Given the description of an element on the screen output the (x, y) to click on. 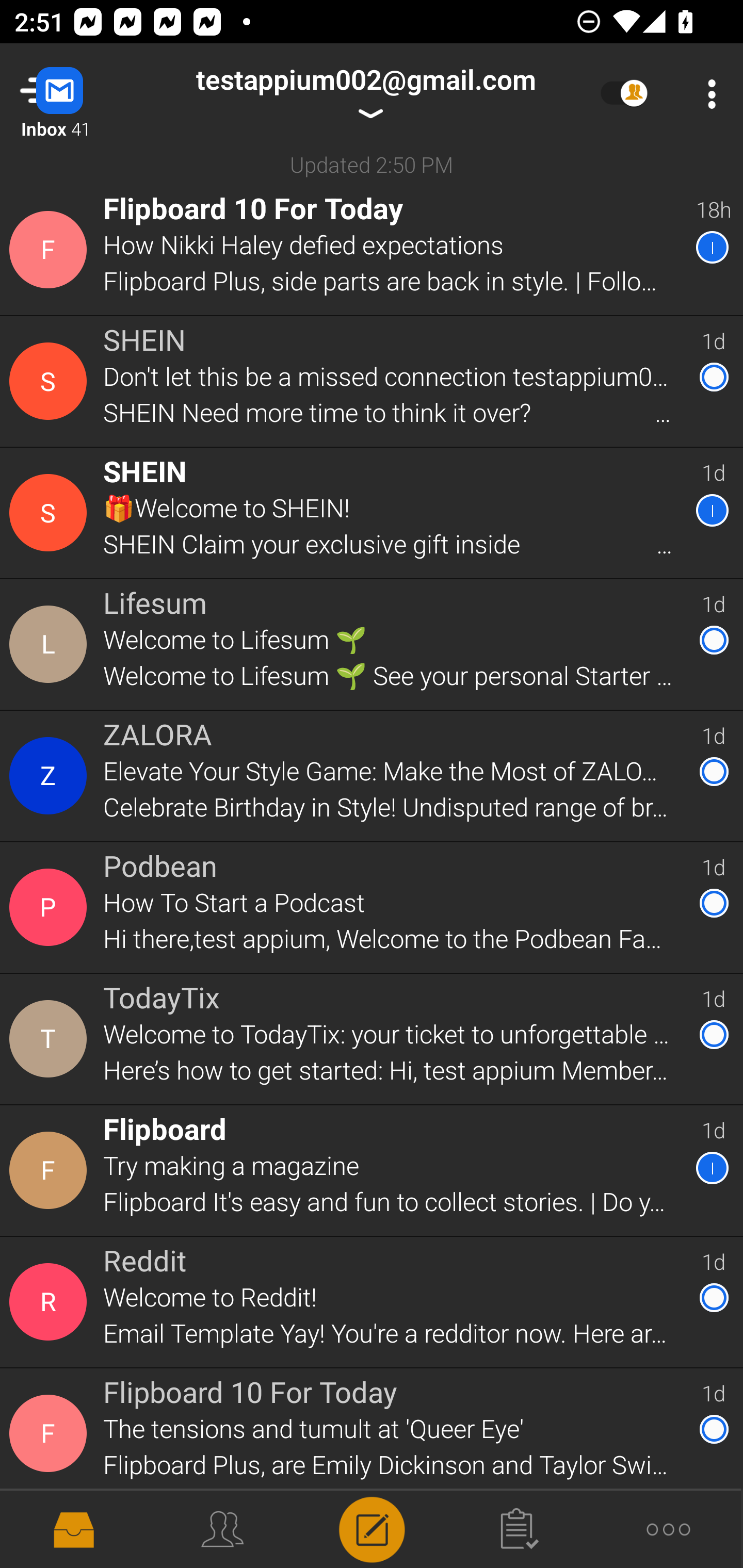
Navigate up (81, 93)
testappium002@gmail.com (365, 93)
More Options (706, 93)
Updated 2:50 PM (371, 164)
Contact Details (50, 250)
Contact Details (50, 381)
Contact Details (50, 513)
Contact Details (50, 644)
Contact Details (50, 776)
Contact Details (50, 907)
Contact Details (50, 1038)
Contact Details (50, 1170)
Contact Details (50, 1302)
Contact Details (50, 1433)
Compose (371, 1528)
